Given the description of an element on the screen output the (x, y) to click on. 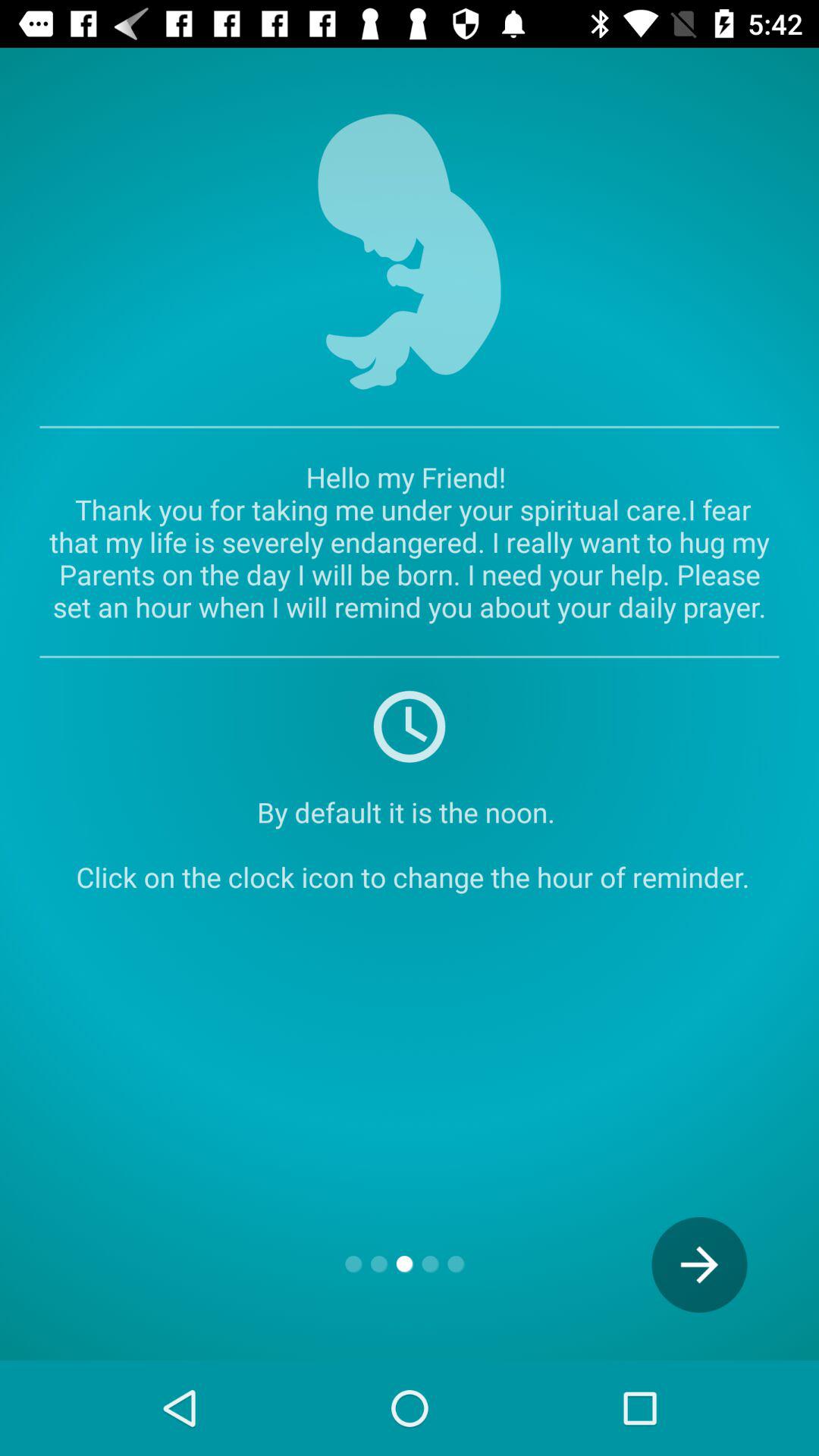
tap icon at the bottom right corner (699, 1264)
